Given the description of an element on the screen output the (x, y) to click on. 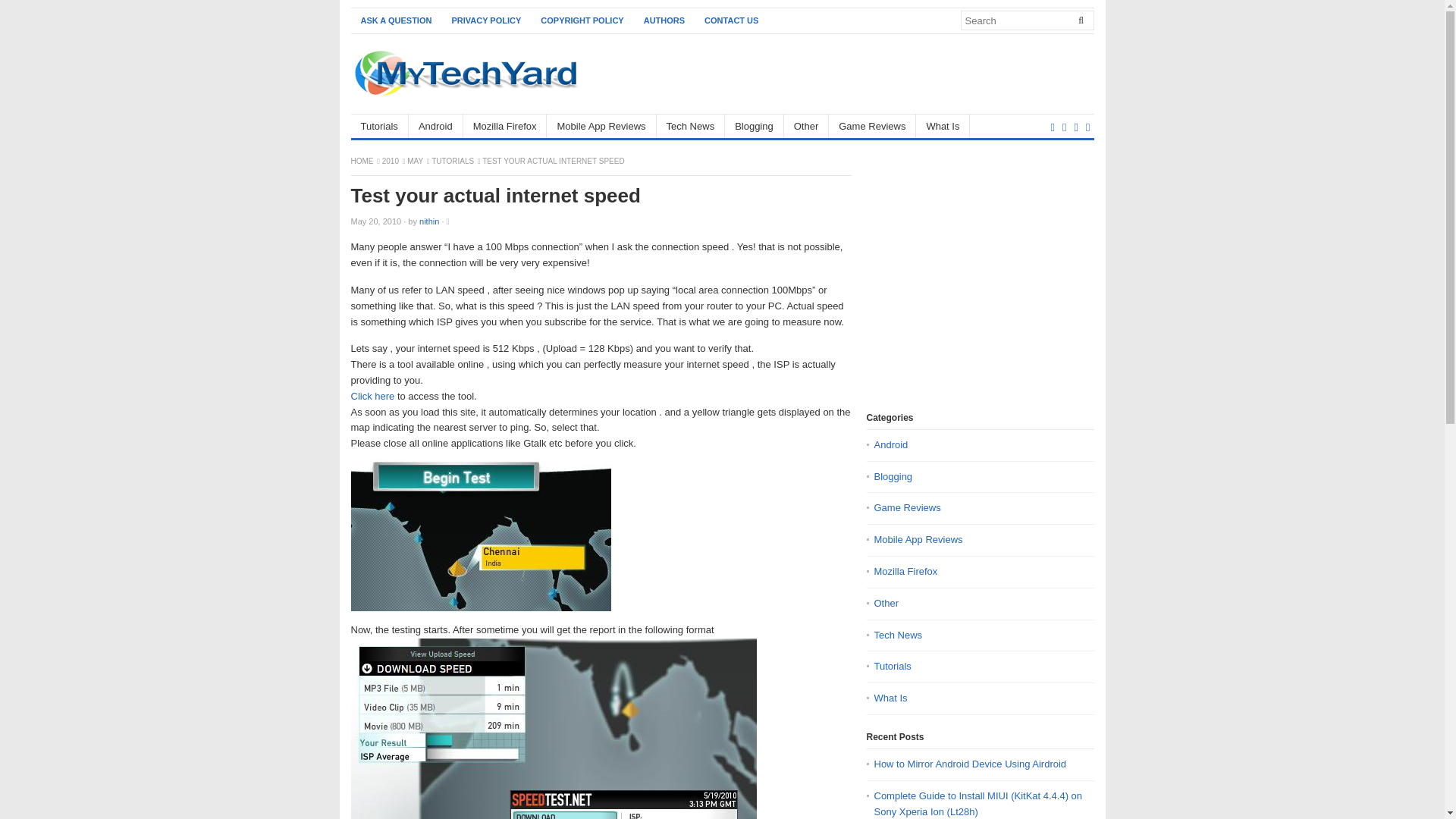
TUTORIALS (453, 161)
2010 (390, 161)
COPYRIGHT POLICY (582, 20)
Android (436, 126)
PRIVACY POLICY (486, 20)
MAY (416, 161)
Speed test report (552, 728)
Mozilla Firefox (505, 126)
Blogging (754, 126)
HOME (362, 161)
